Given the description of an element on the screen output the (x, y) to click on. 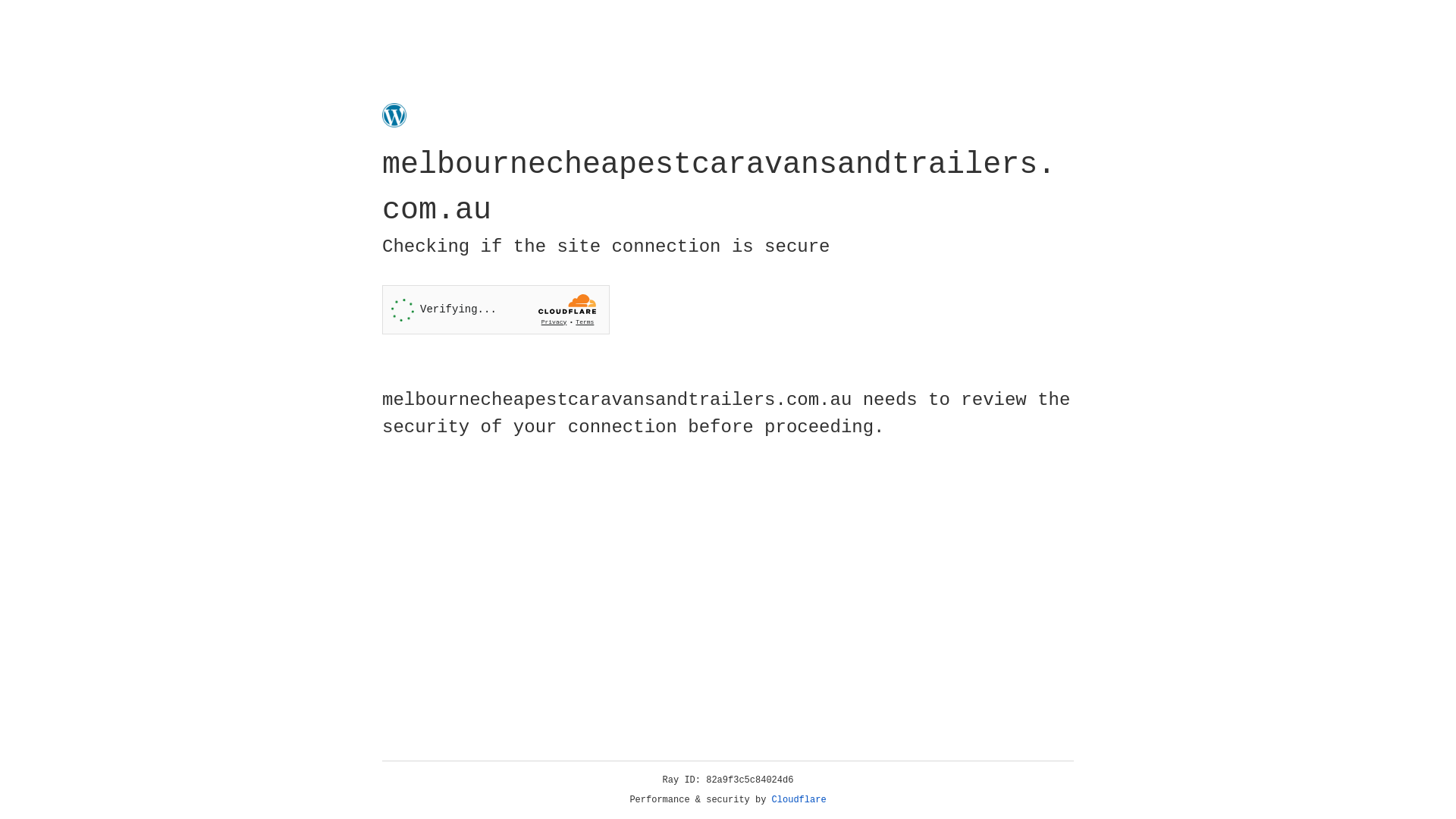
Widget containing a Cloudflare security challenge Element type: hover (495, 309)
Cloudflare Element type: text (798, 799)
